Given the description of an element on the screen output the (x, y) to click on. 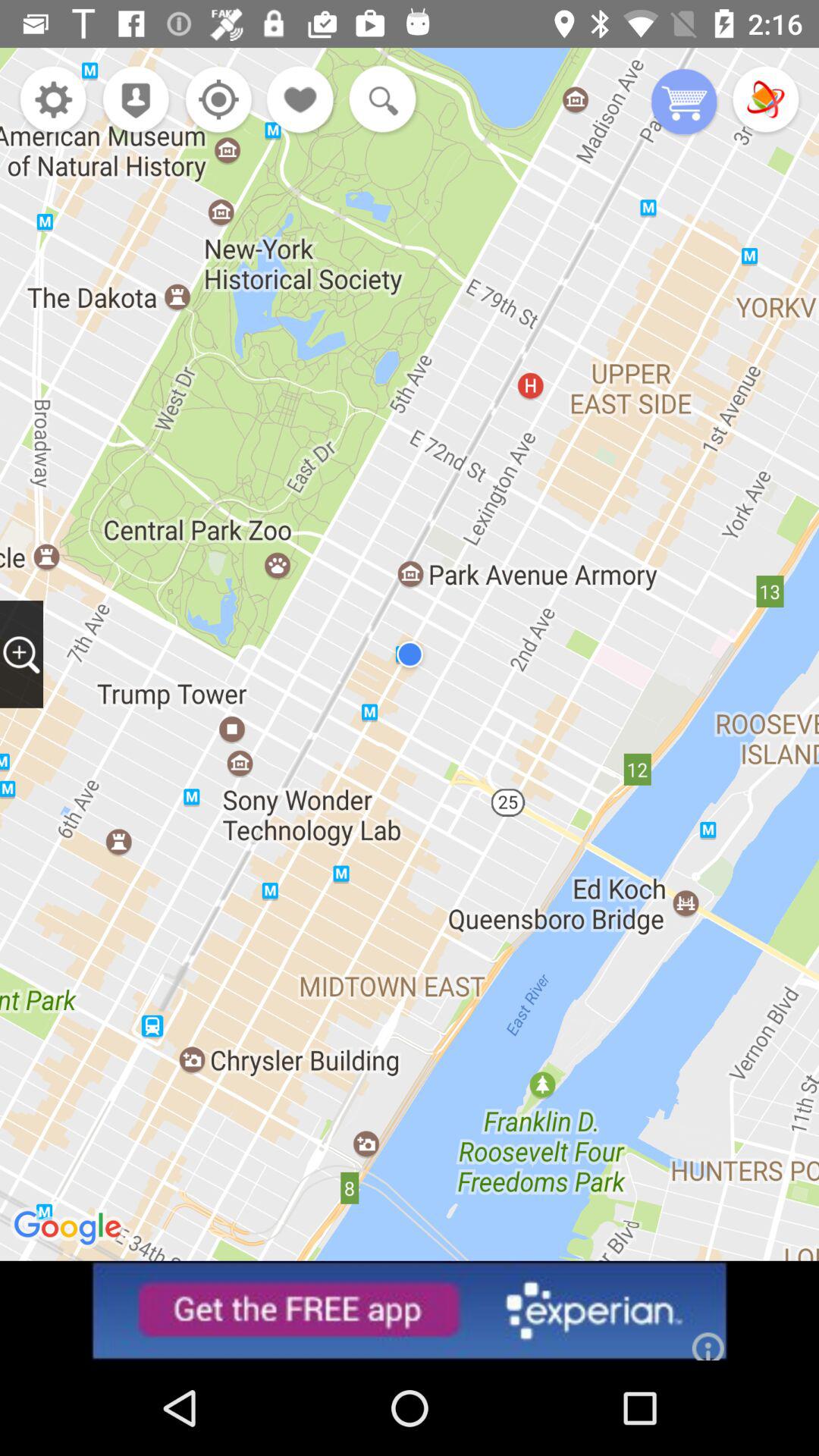
pinpoint location (214, 101)
